Given the description of an element on the screen output the (x, y) to click on. 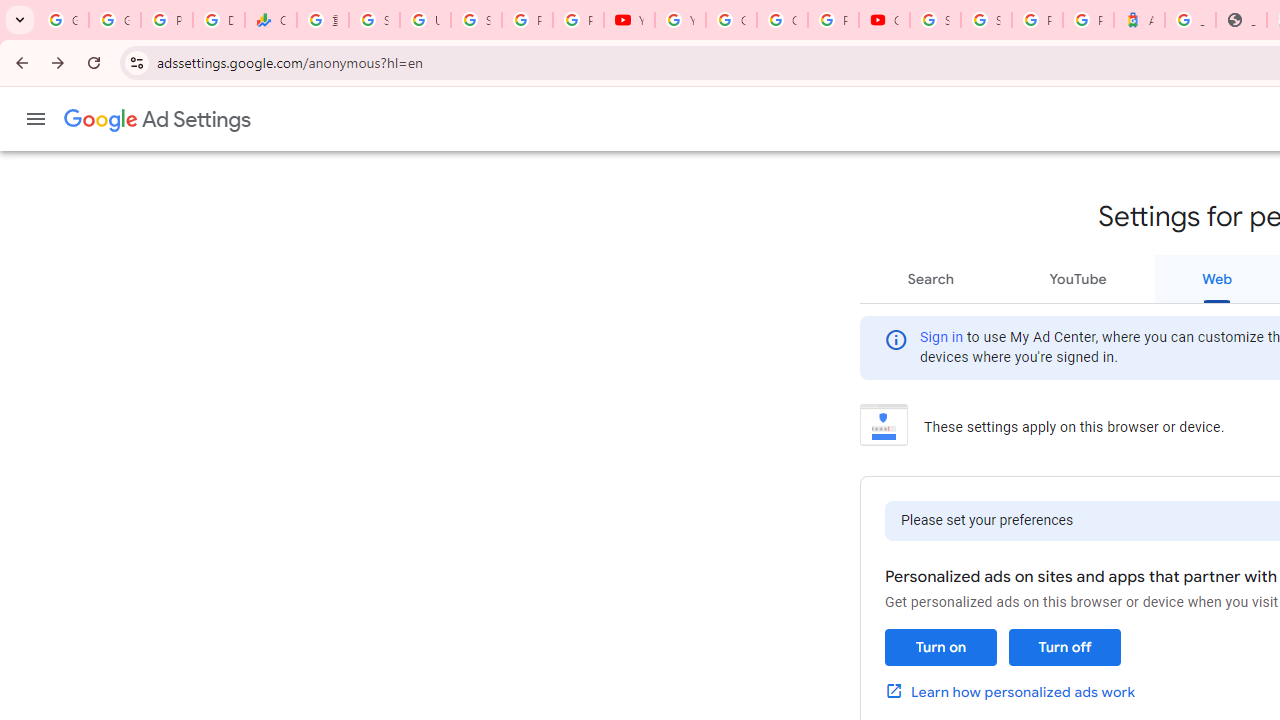
Main menu (35, 119)
Google Account Help (731, 20)
Search (931, 278)
Search tabs (20, 20)
Turn ads based on your interests off. (1064, 647)
Ad Settings (158, 120)
Google Workspace Admin Community (63, 20)
